Given the description of an element on the screen output the (x, y) to click on. 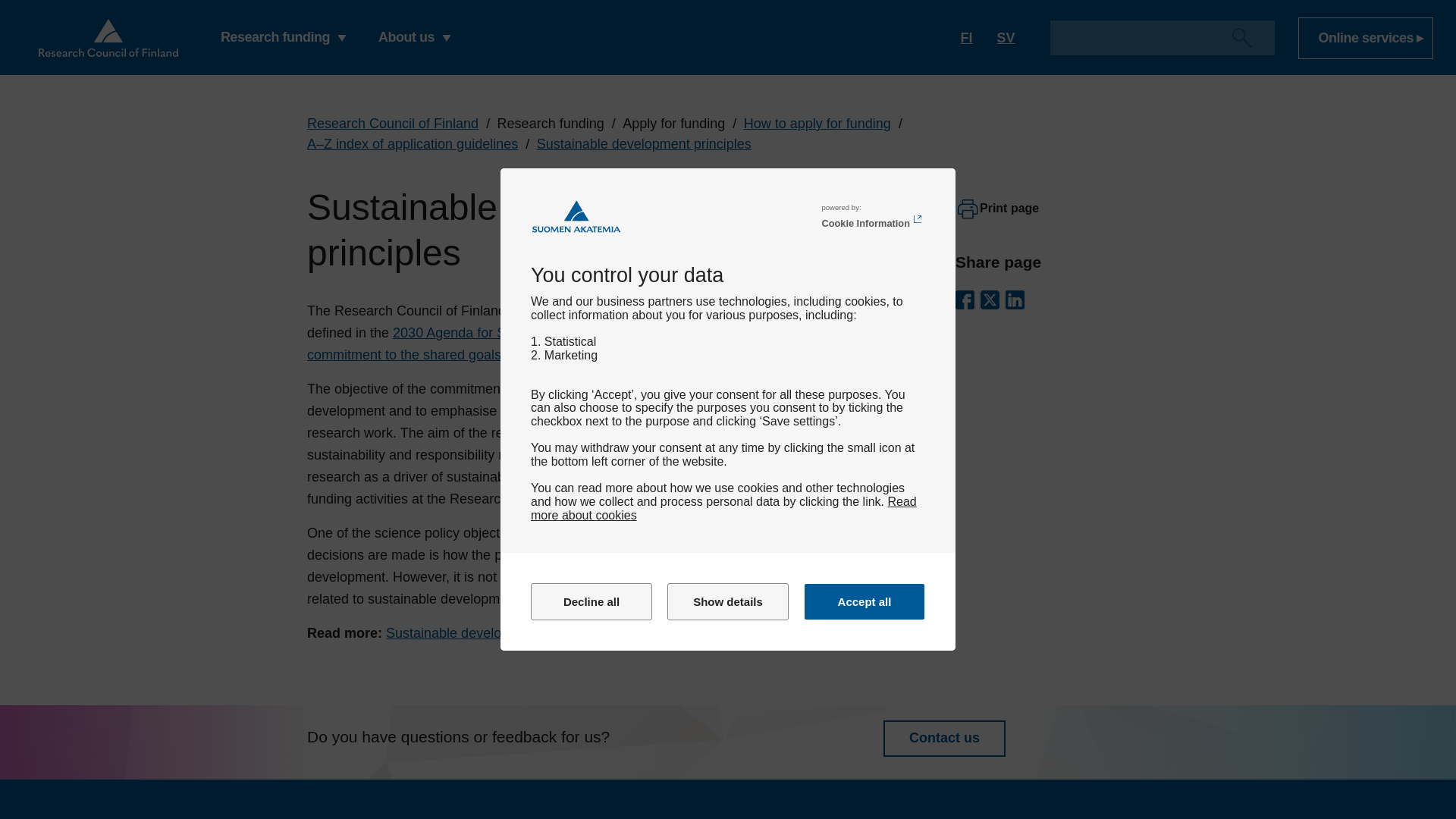
Read more about cookies (724, 508)
Decline all (591, 601)
Show details (727, 601)
Accept all (863, 601)
Cookie Information (872, 220)
